Given the description of an element on the screen output the (x, y) to click on. 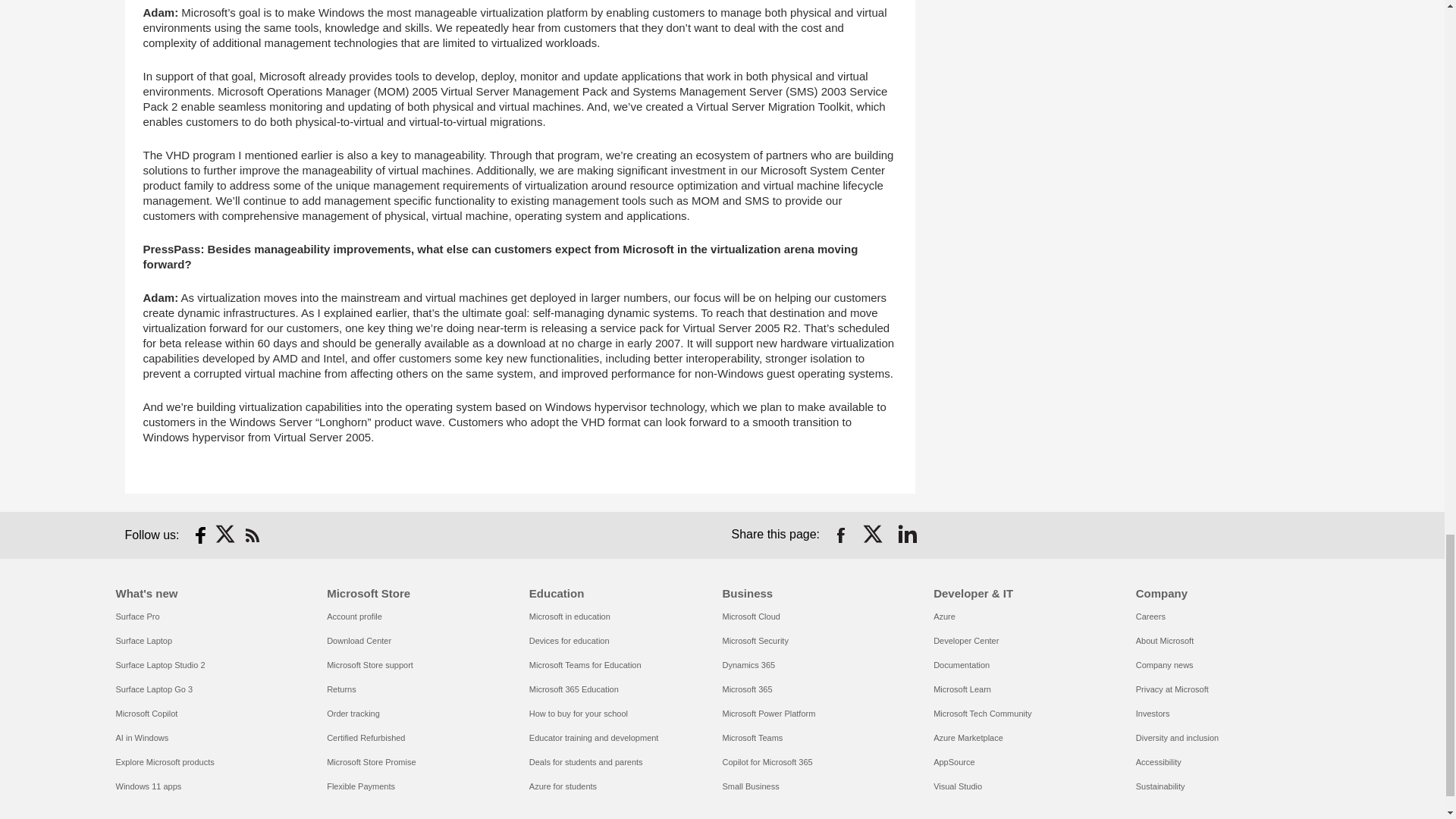
Share on LinkedIn (907, 535)
Follow on Facebook (200, 535)
Share on Twitter (873, 535)
Follow on Twitter (226, 535)
RSS Subscription (252, 535)
Share on Facebook (840, 535)
